Given the description of an element on the screen output the (x, y) to click on. 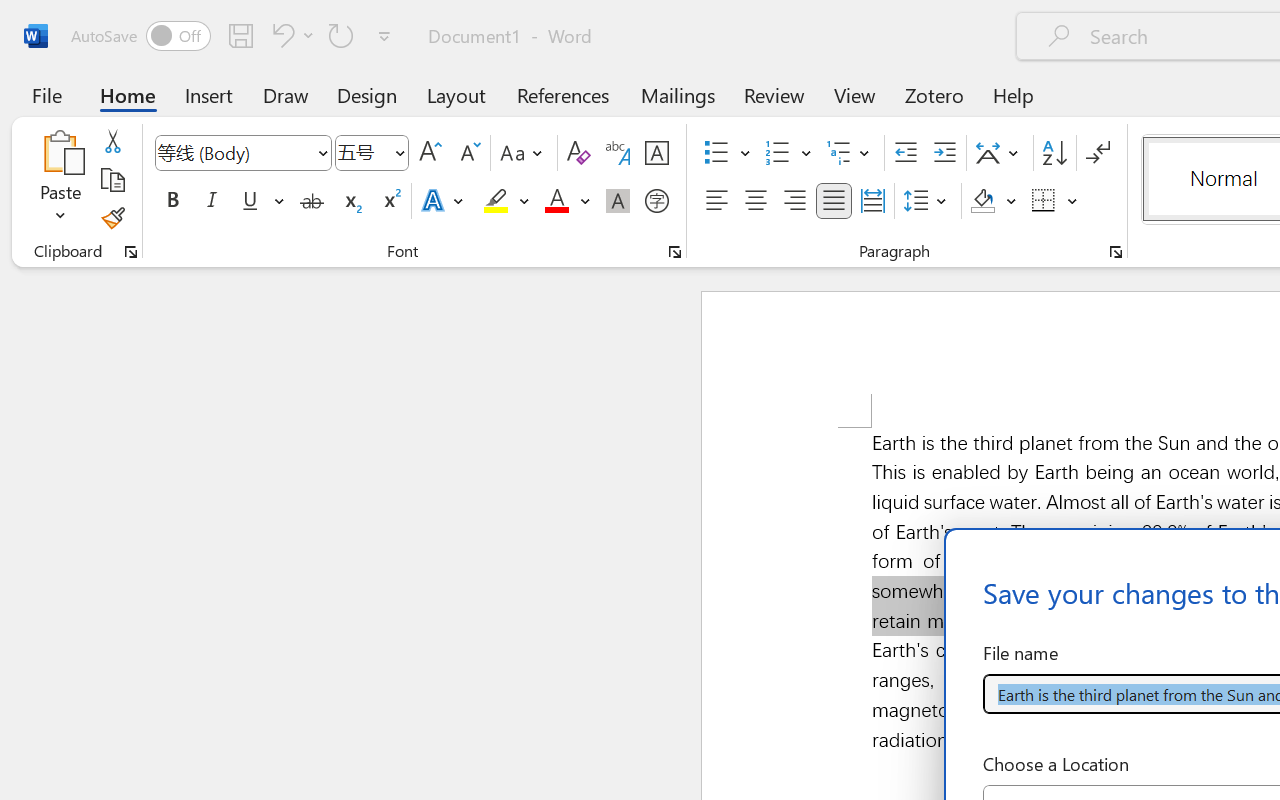
Multilevel List (850, 153)
Superscript (390, 201)
Character Border (656, 153)
Decrease Indent (906, 153)
Distributed (872, 201)
Clear Formatting (578, 153)
Paragraph... (1115, 252)
Repeat Doc Close (341, 35)
Text Effects and Typography (444, 201)
Center (756, 201)
Shrink Font (468, 153)
